Given the description of an element on the screen output the (x, y) to click on. 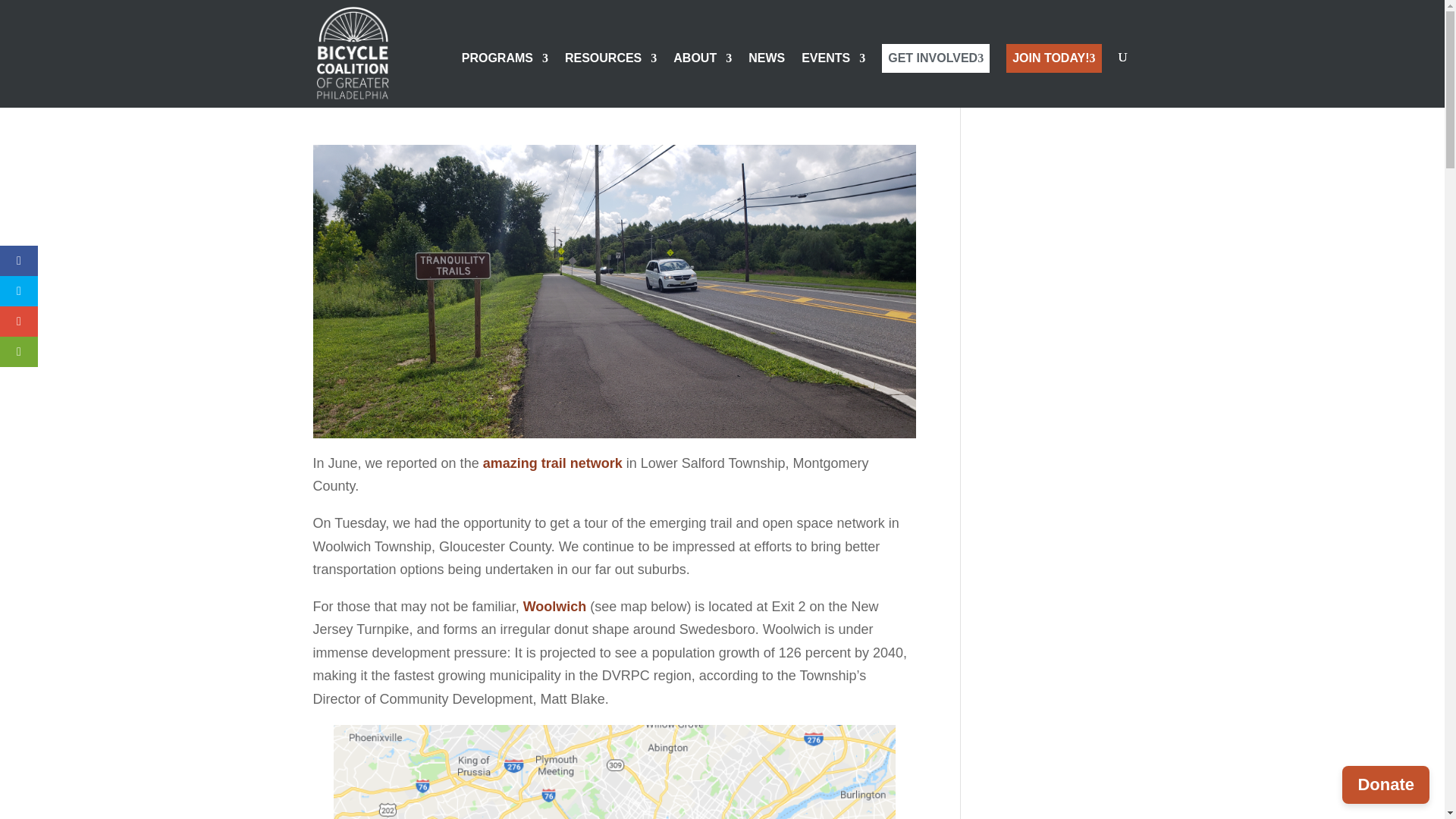
RESOURCES (610, 80)
Posts by Leonard Bonarek (366, 94)
Search (1106, 85)
ABOUT (702, 80)
PROGRAMS (504, 80)
